Given the description of an element on the screen output the (x, y) to click on. 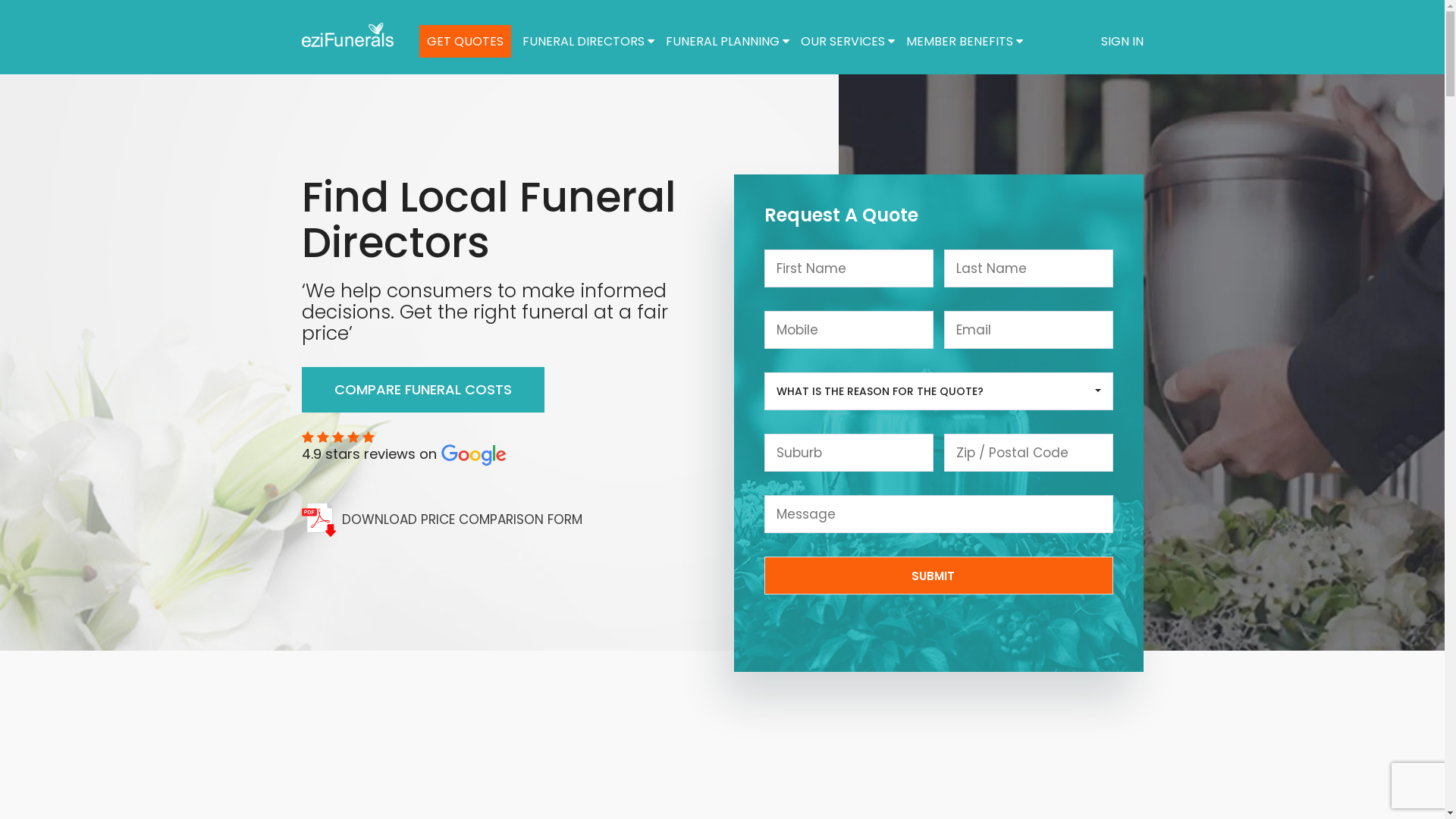
Submit Element type: text (938, 575)
COMPARE FUNERAL COSTS Element type: text (422, 389)
FUNERAL DIRECTORS Element type: text (587, 41)
FUNERAL PLANNING Element type: text (727, 41)
MEMBER BENEFITS Element type: text (963, 41)
WHAT IS THE REASON FOR THE QUOTE? Element type: text (938, 391)
DOWNLOAD PRICE COMPARISON FORM Element type: text (506, 519)
SIGN IN Element type: text (1122, 41)
OUR SERVICES Element type: text (847, 41)
GET QUOTES Element type: text (464, 41)
